Given the description of an element on the screen output the (x, y) to click on. 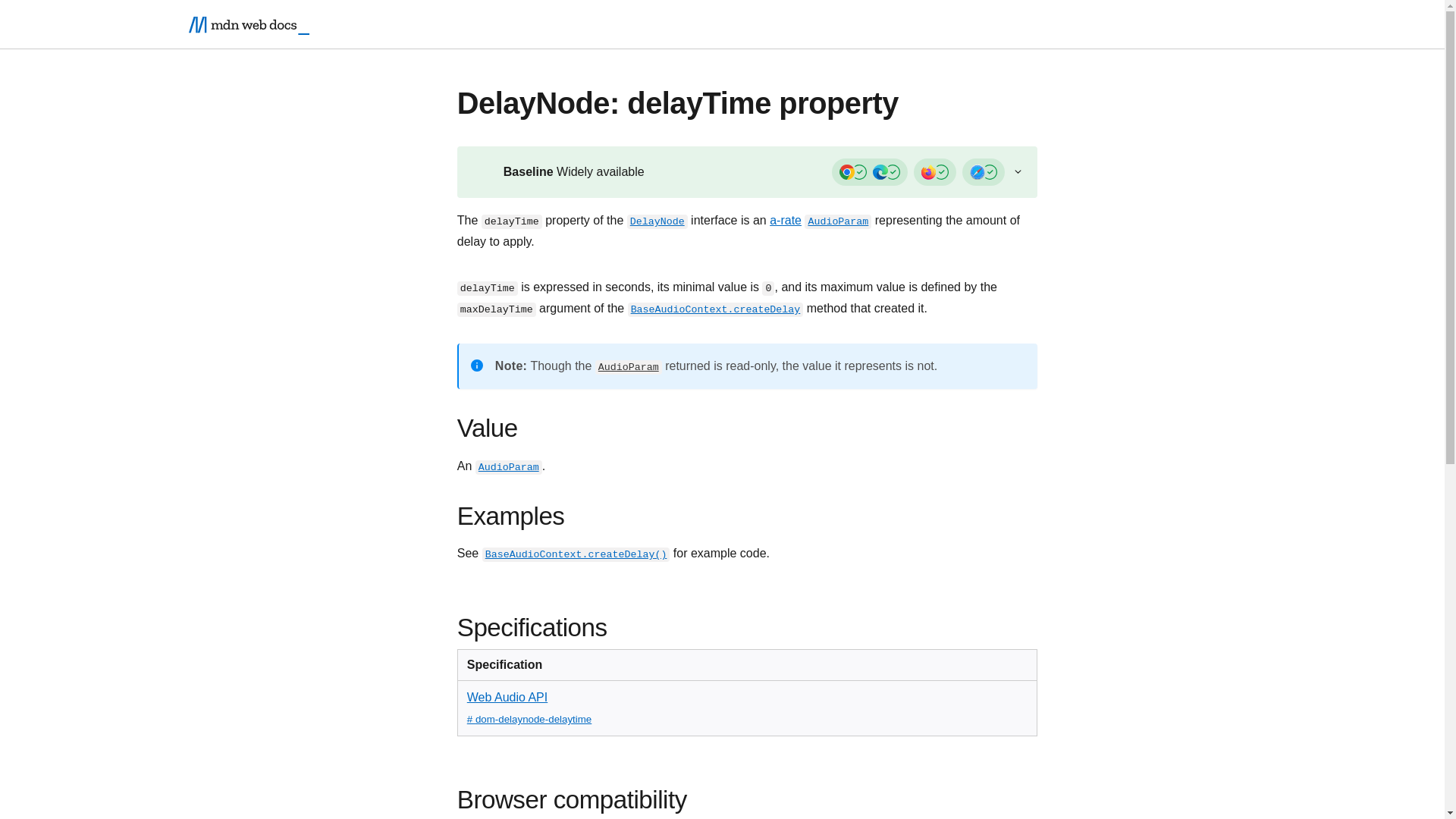
Supported in Chrome and Edge (869, 171)
Supported in Safari (983, 171)
Supported in Firefox (935, 171)
